Given the description of an element on the screen output the (x, y) to click on. 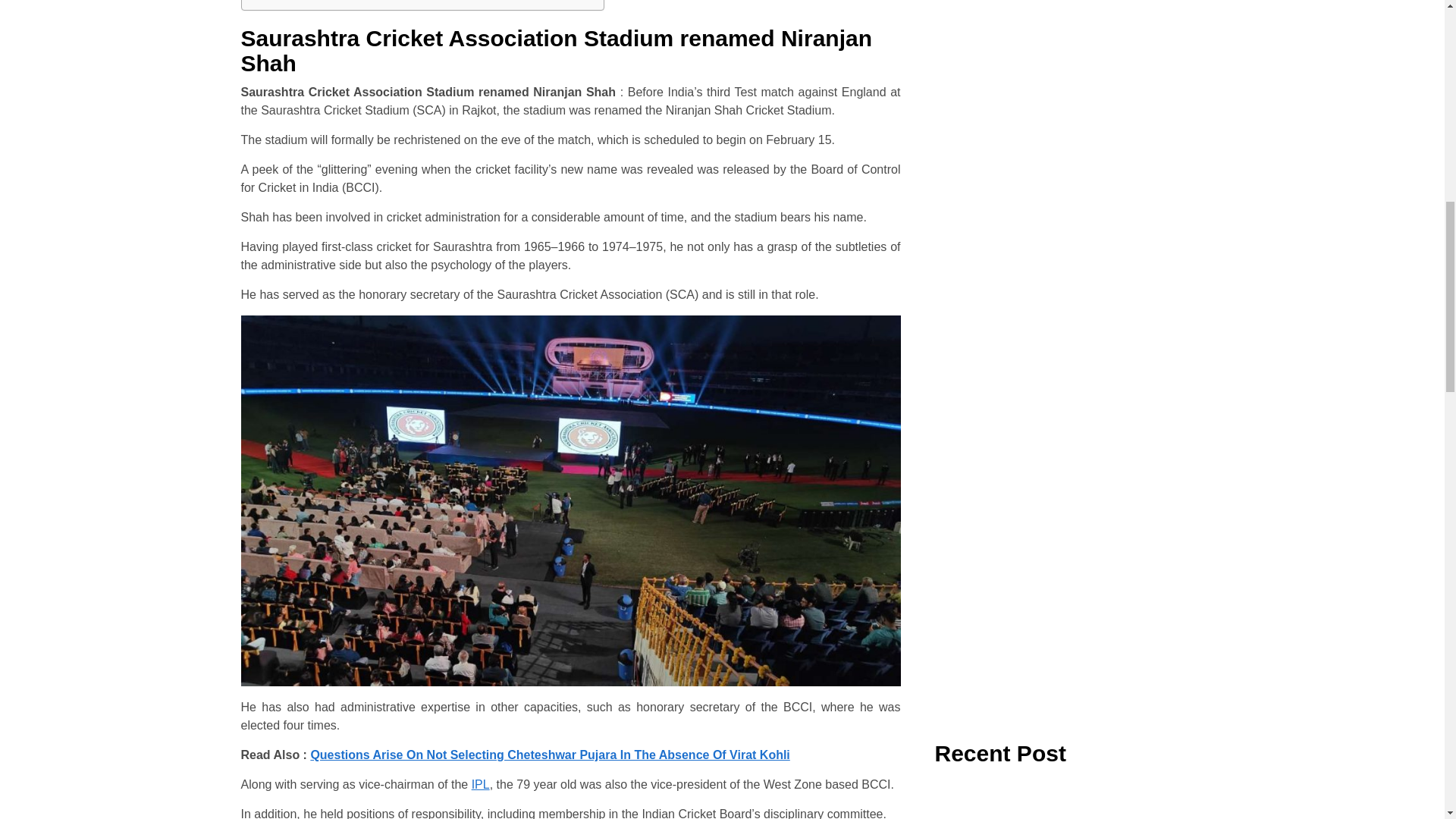
IPL (480, 784)
